Given the description of an element on the screen output the (x, y) to click on. 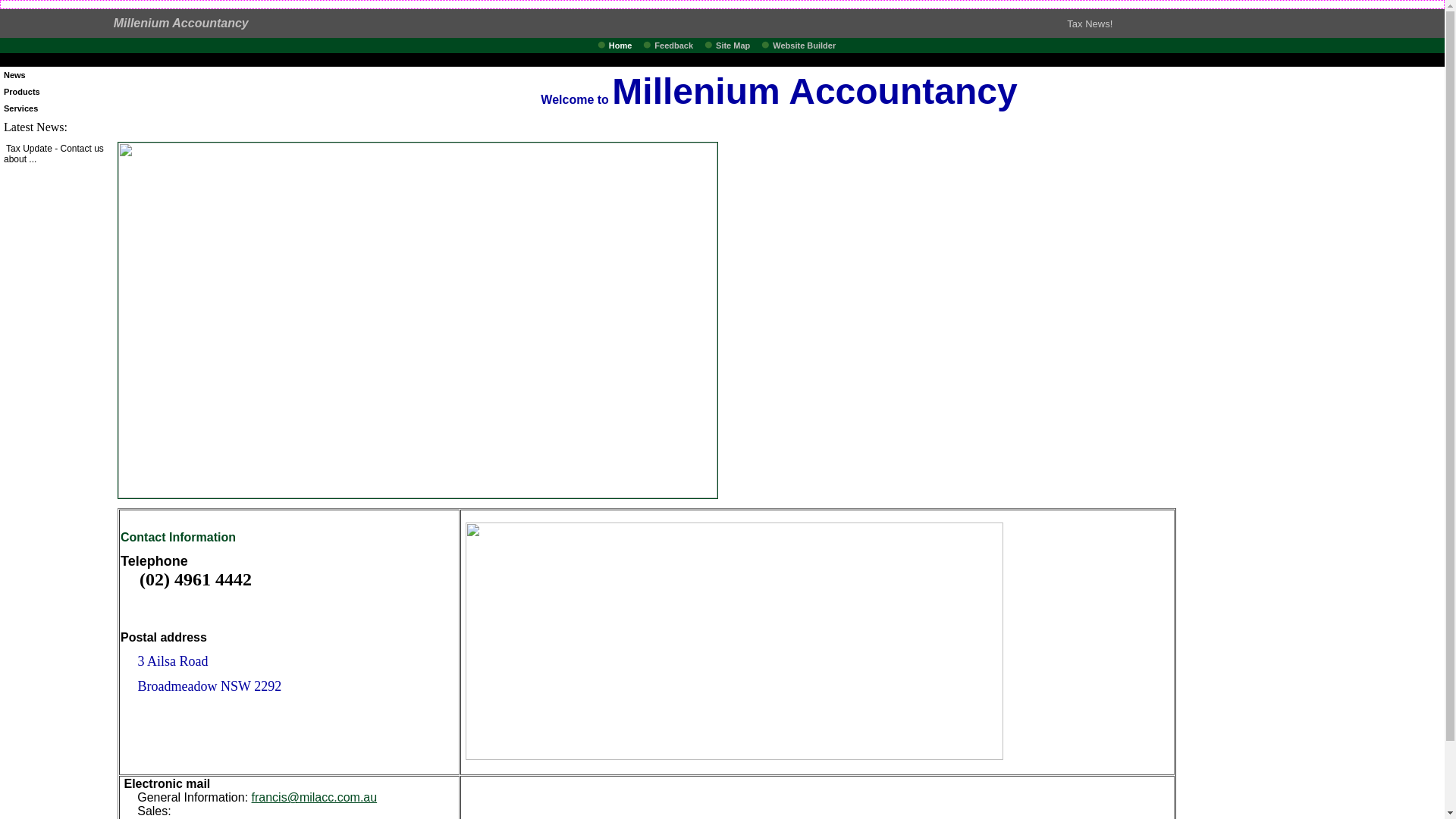
francis@milacc.com.au Element type: text (314, 796)
Services Element type: text (20, 107)
Site Map Element type: text (736, 45)
Website Builder Element type: text (807, 45)
Home Element type: text (624, 45)
News Element type: text (14, 74)
Feedback Element type: text (677, 45)
Products Element type: text (21, 91)
